Given the description of an element on the screen output the (x, y) to click on. 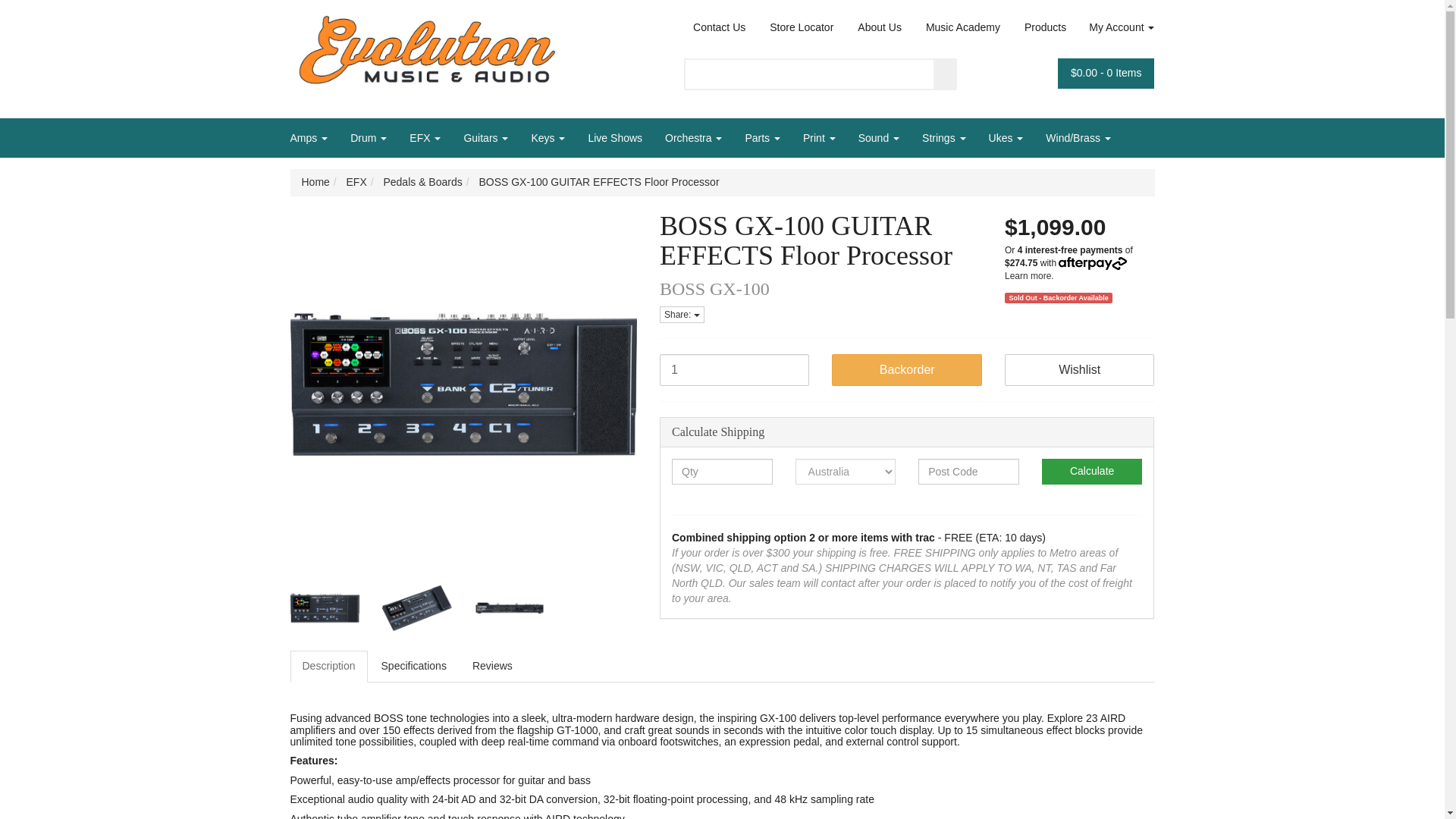
About Us (878, 28)
Add BOSS GX-100 GUITAR EFFECTS Floor Processor to Cart (906, 369)
Products (1045, 28)
Store Locator (801, 28)
1 (734, 369)
Contact Us (719, 28)
Add To Wishlist (1079, 369)
My Account (1115, 28)
Music Academy (962, 28)
Large View (324, 607)
